Given the description of an element on the screen output the (x, y) to click on. 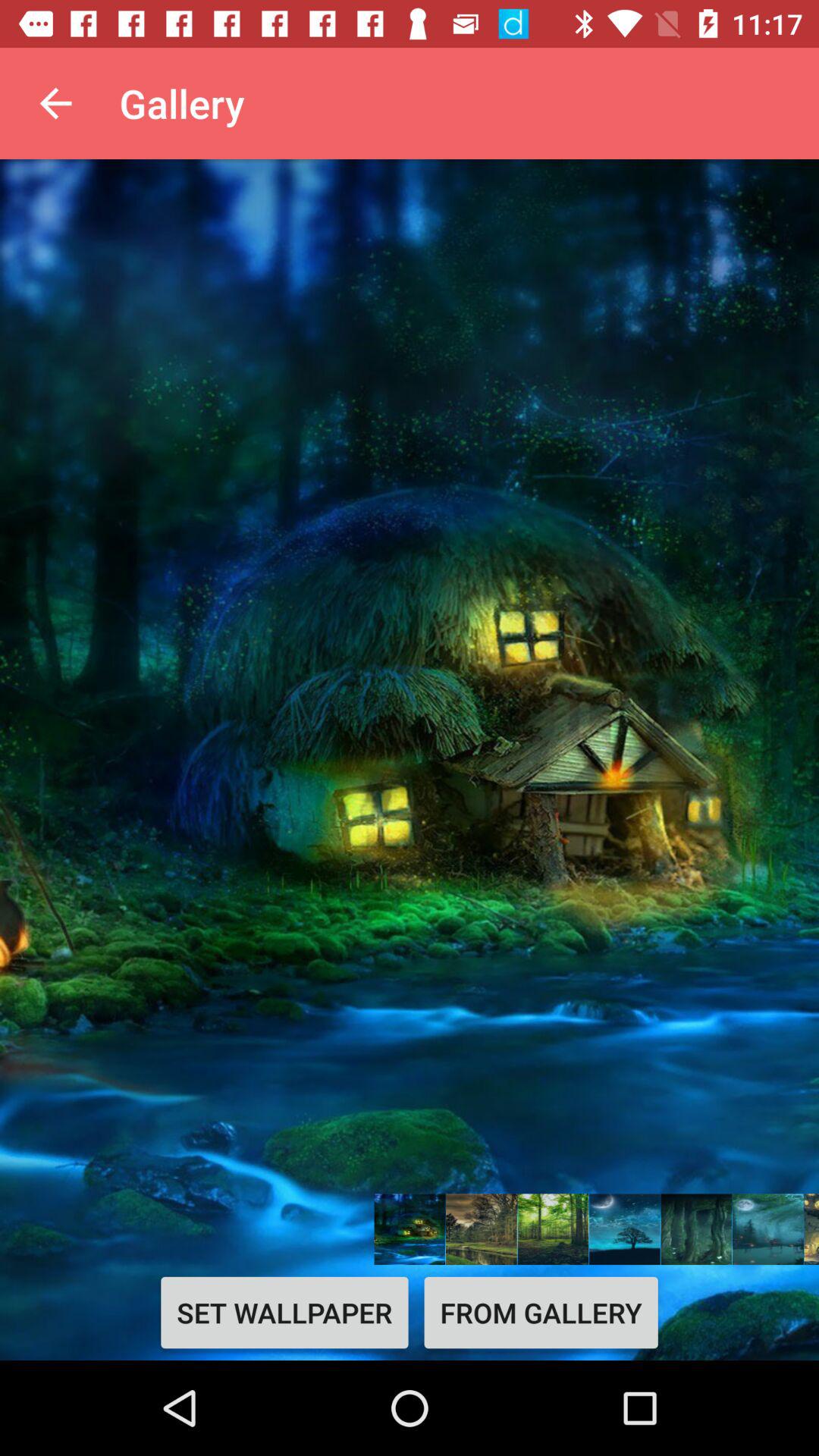
tap the icon next to the set wallpaper icon (541, 1312)
